Given the description of an element on the screen output the (x, y) to click on. 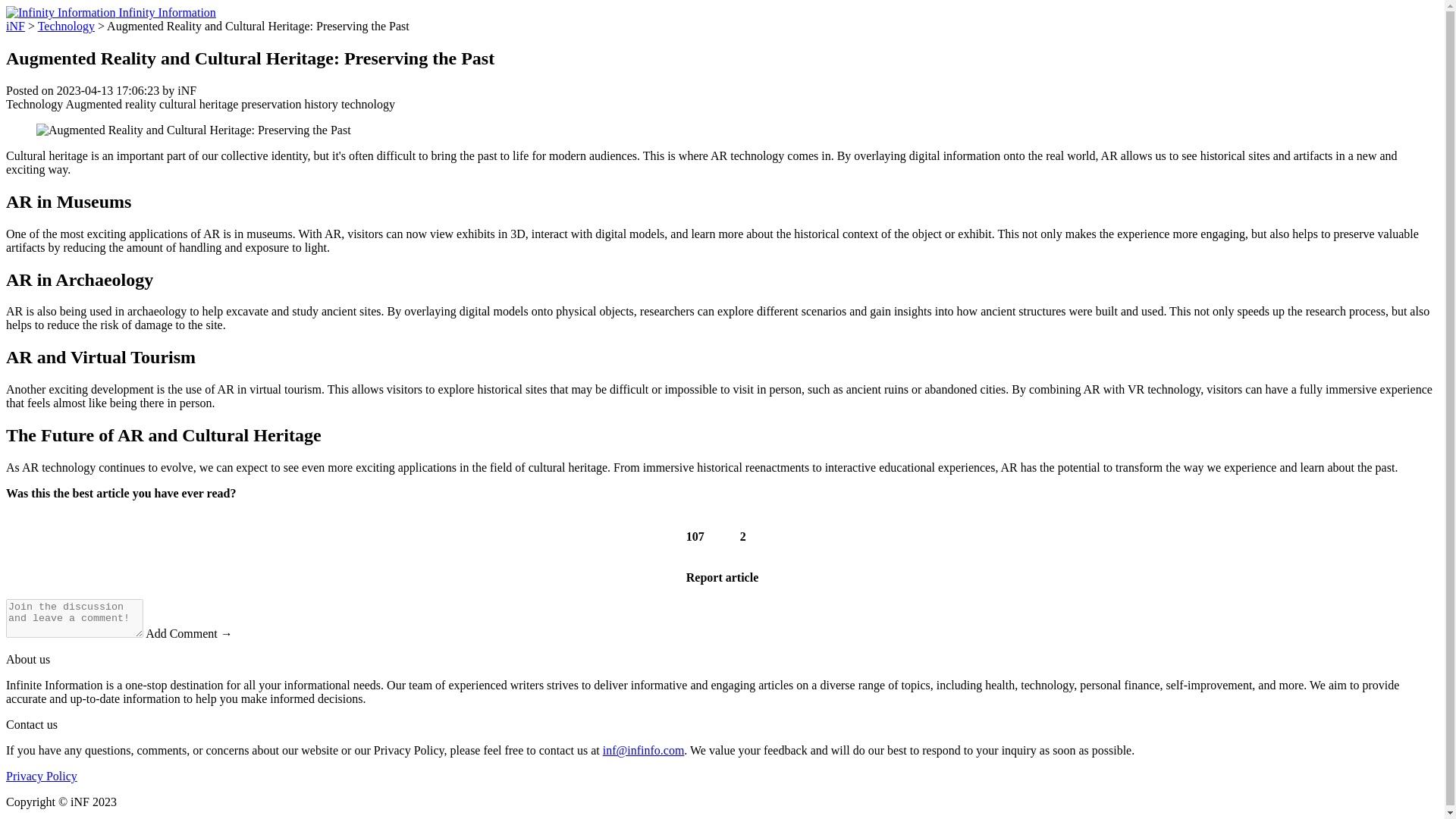
Technology (65, 25)
history (320, 103)
preservation (271, 103)
Technology (33, 103)
Privacy Policy (41, 775)
Augmented reality (110, 103)
cultural heritage (198, 103)
iNF (14, 25)
technology (367, 103)
Infinity Information (110, 11)
